Given the description of an element on the screen output the (x, y) to click on. 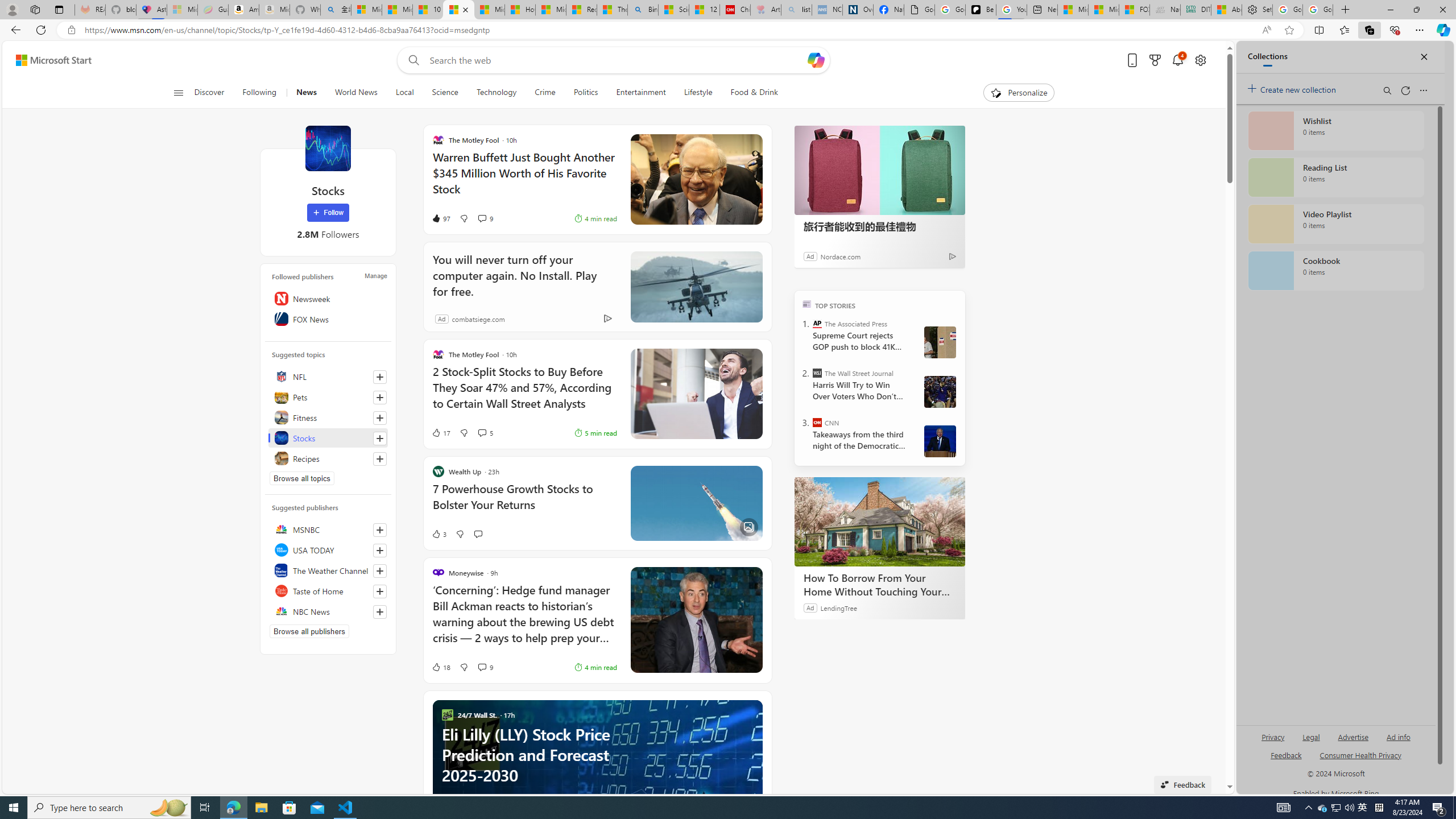
TOP (806, 302)
Ad Choice (606, 318)
Taste of Home (327, 590)
FOX News (327, 318)
Bill Ackman on brewing US debt crisis (696, 619)
Bing (642, 9)
Asthma Inhalers: Names and Types (151, 9)
Aberdeen, Hong Kong SAR hourly forecast | Microsoft Weather (1226, 9)
